Given the description of an element on the screen output the (x, y) to click on. 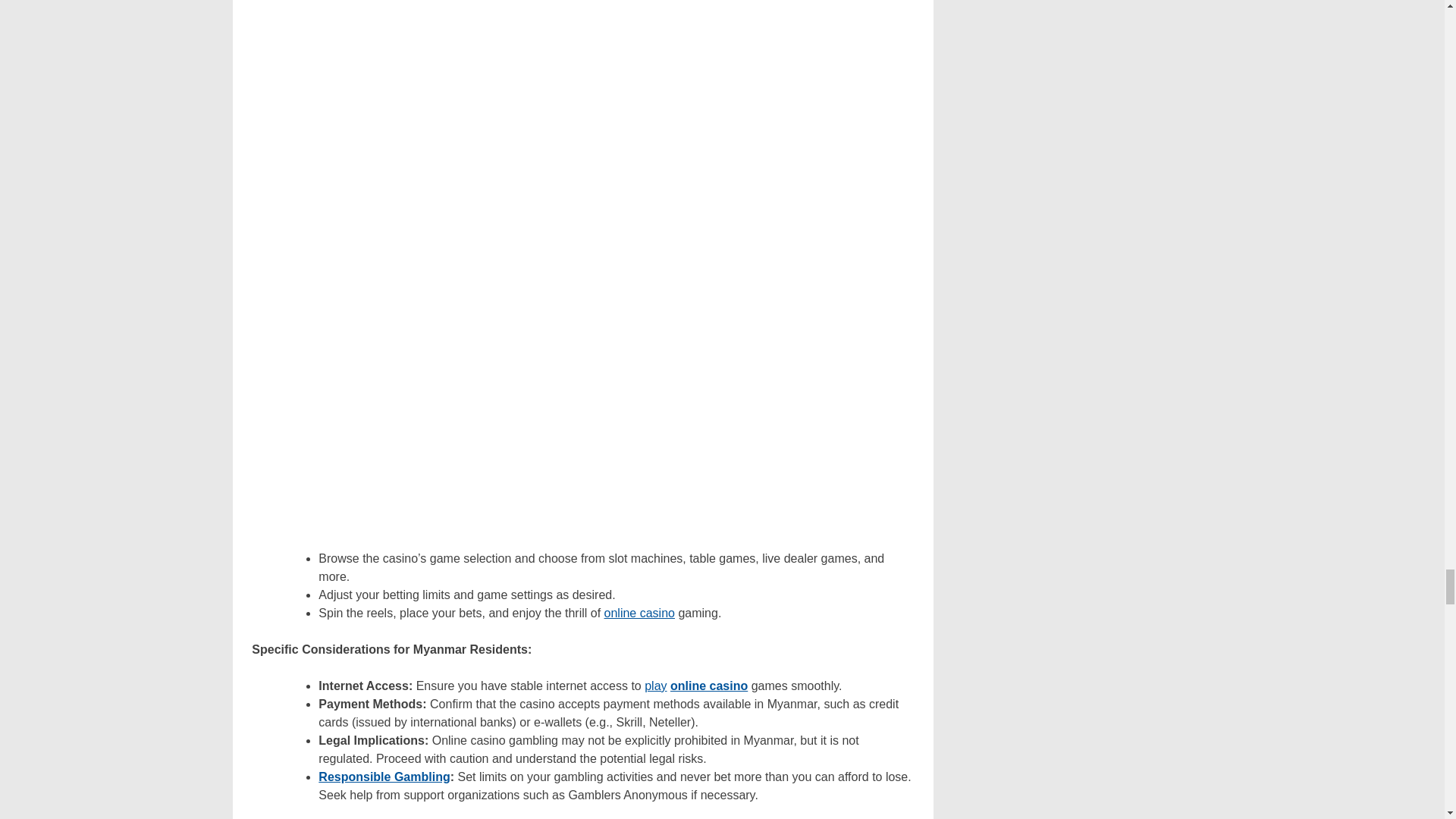
online casino (708, 685)
play (655, 685)
Online Casino (708, 685)
play (655, 685)
Responsible Gambling (383, 776)
online casino (639, 612)
online casino (639, 612)
Responsible Gambling (383, 776)
